Given the description of an element on the screen output the (x, y) to click on. 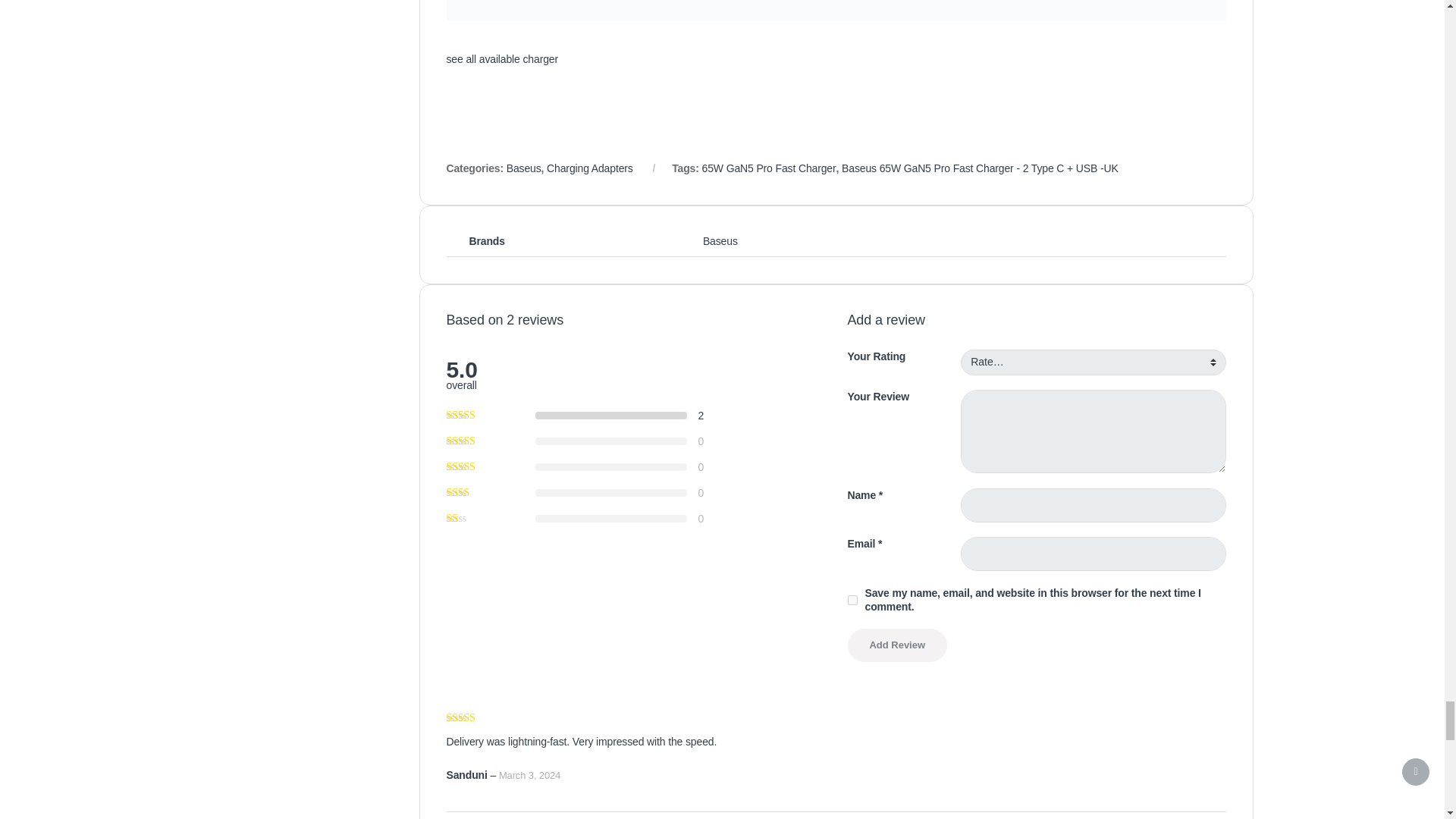
Add Review (897, 644)
yes (852, 600)
